Given the description of an element on the screen output the (x, y) to click on. 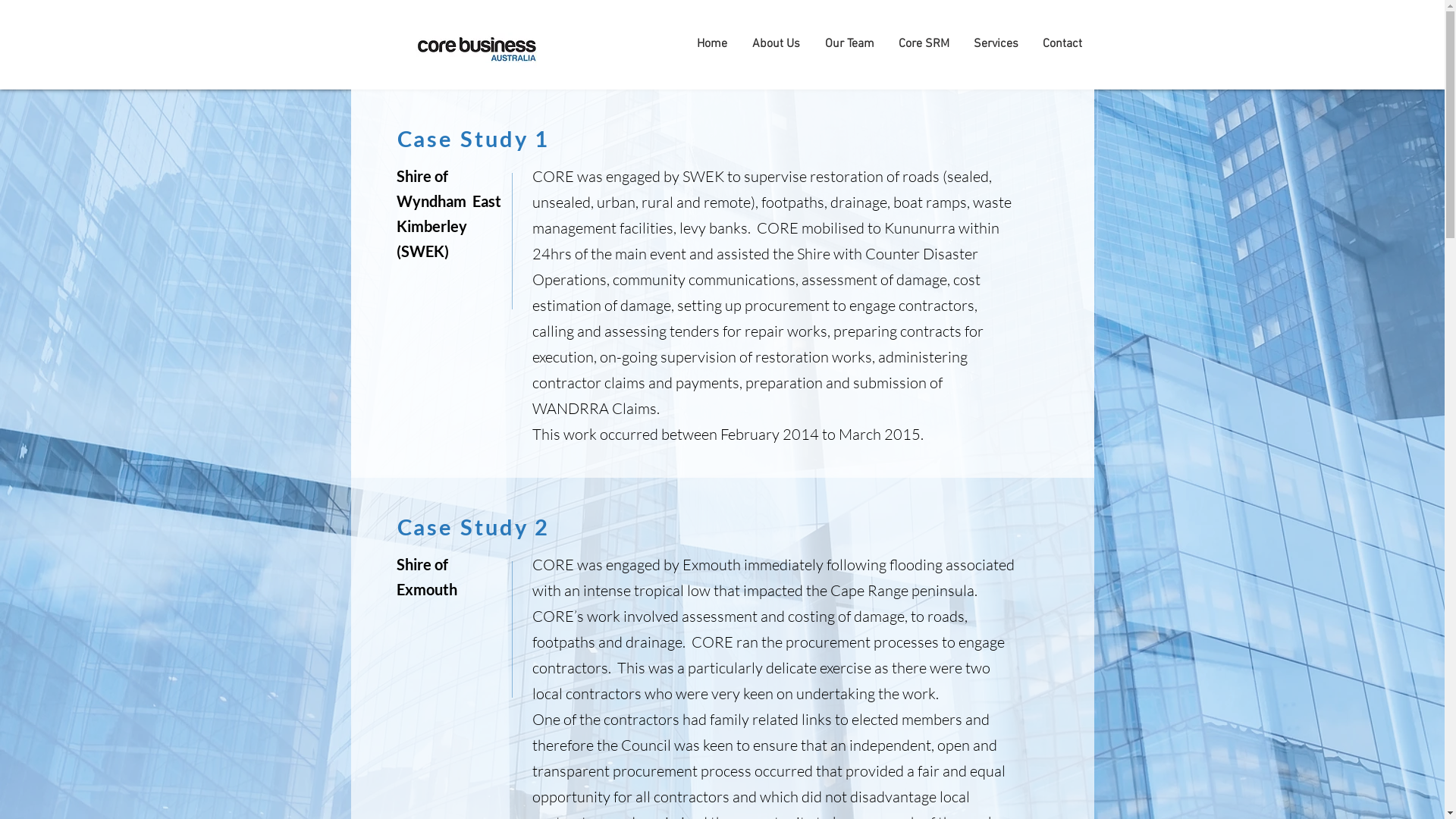
Home Element type: text (711, 43)
Core SRM Element type: text (922, 43)
Services Element type: text (995, 43)
About Us Element type: text (776, 43)
Contact Element type: text (1061, 43)
Welcome to Core Business Australia Element type: hover (478, 44)
Our Team Element type: text (849, 43)
